Given the description of an element on the screen output the (x, y) to click on. 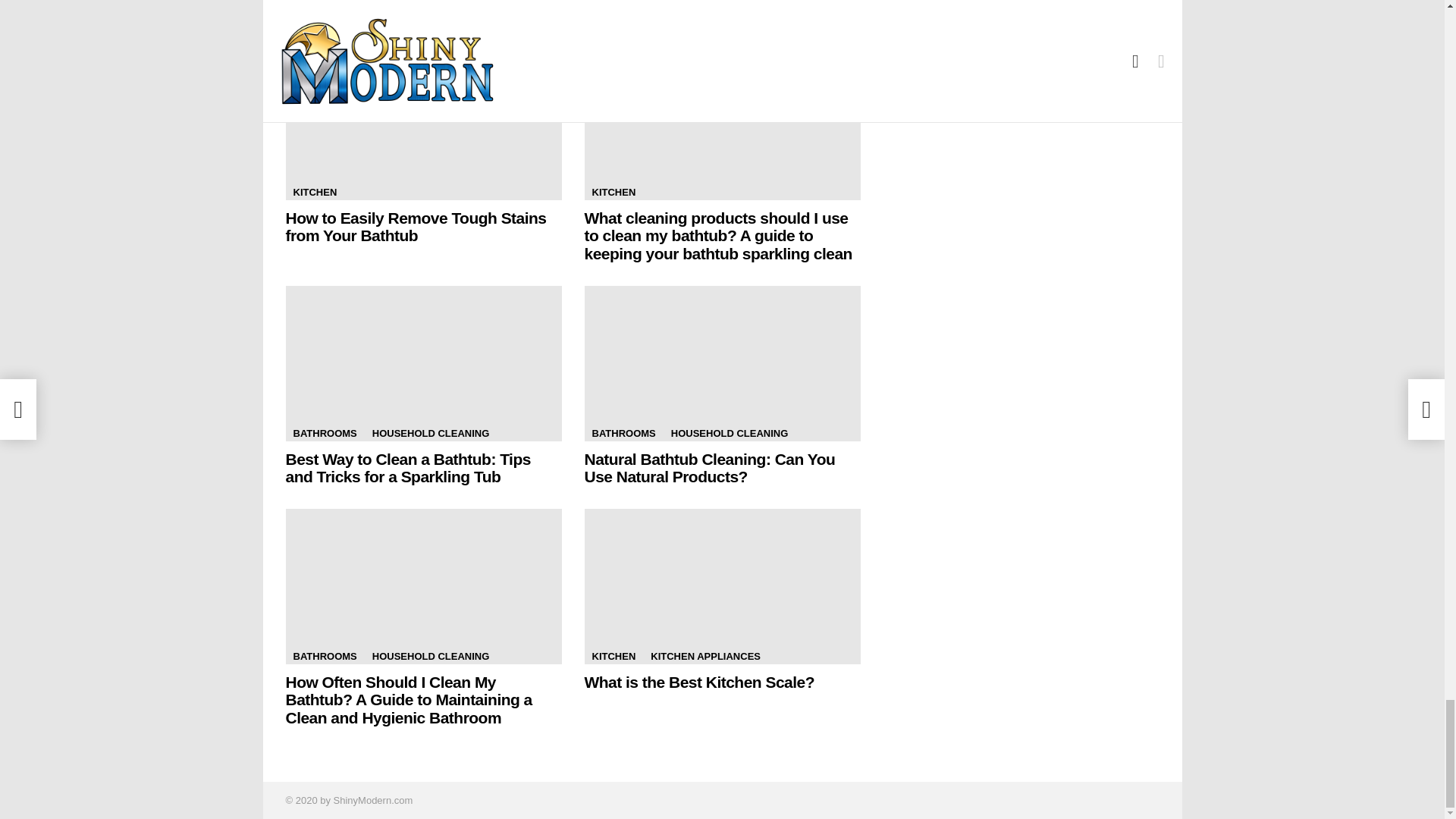
How to Easily Remove Tough Stains from Your Bathtub (422, 122)
What is the Best Kitchen Scale? (721, 586)
Natural Bathtub Cleaning: Can You Use Natural Products? (721, 363)
